Given the description of an element on the screen output the (x, y) to click on. 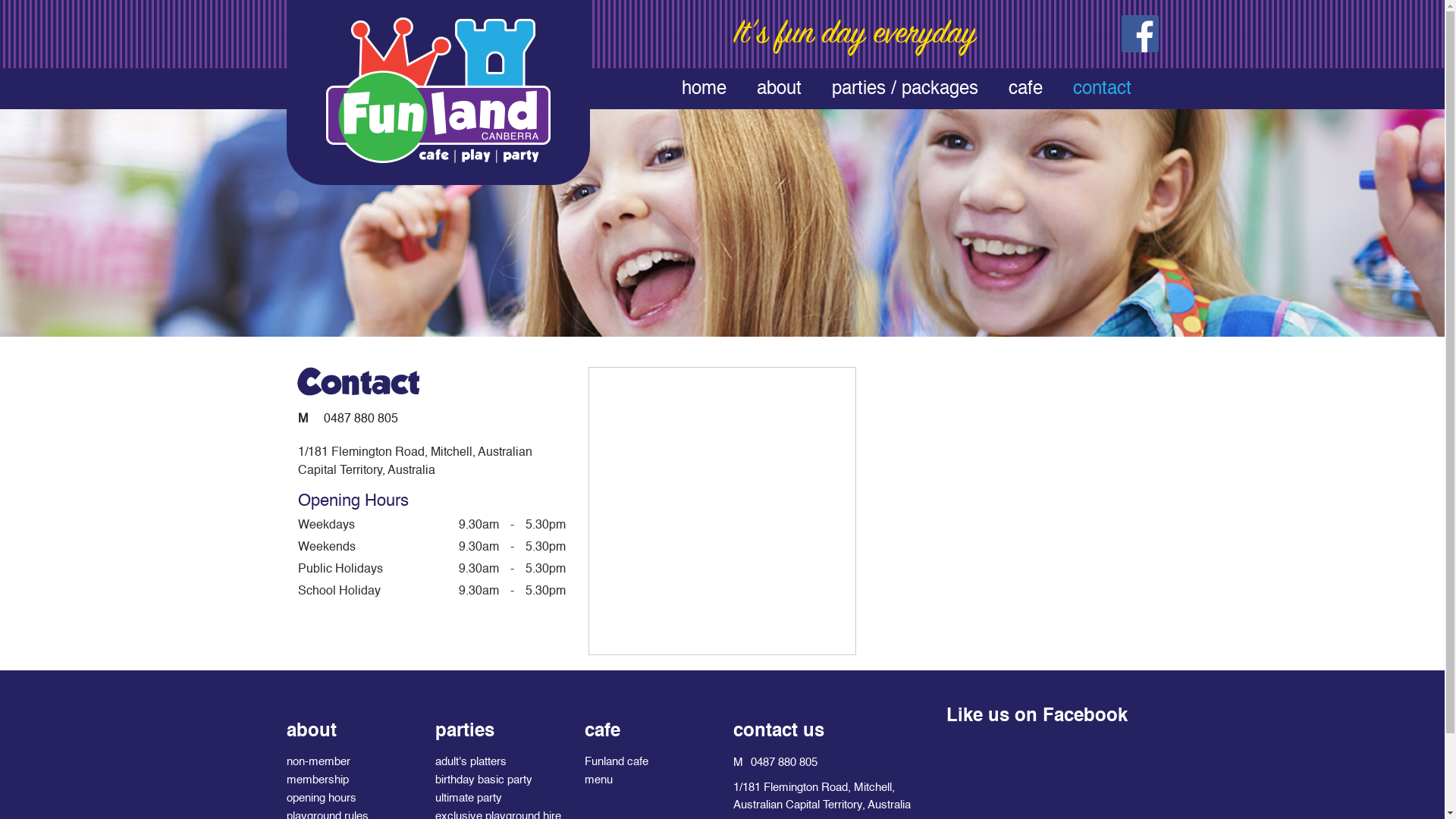
ultimate party Element type: text (468, 798)
Funland Canberra Element type: hover (437, 92)
Fcebook Element type: hover (1138, 33)
parties / packages Element type: text (903, 88)
cafe Element type: text (1025, 88)
Funland cafe Element type: text (616, 761)
opening hours Element type: text (321, 798)
membership Element type: text (317, 780)
adult's platters Element type: text (470, 761)
contact Element type: text (1101, 88)
birthday basic party Element type: text (483, 780)
non-member Element type: text (318, 761)
home Element type: text (702, 88)
about Element type: text (778, 88)
0487 880 805 Element type: text (783, 762)
M0487 880 805 Element type: text (347, 418)
menu Element type: text (598, 780)
